Given the description of an element on the screen output the (x, y) to click on. 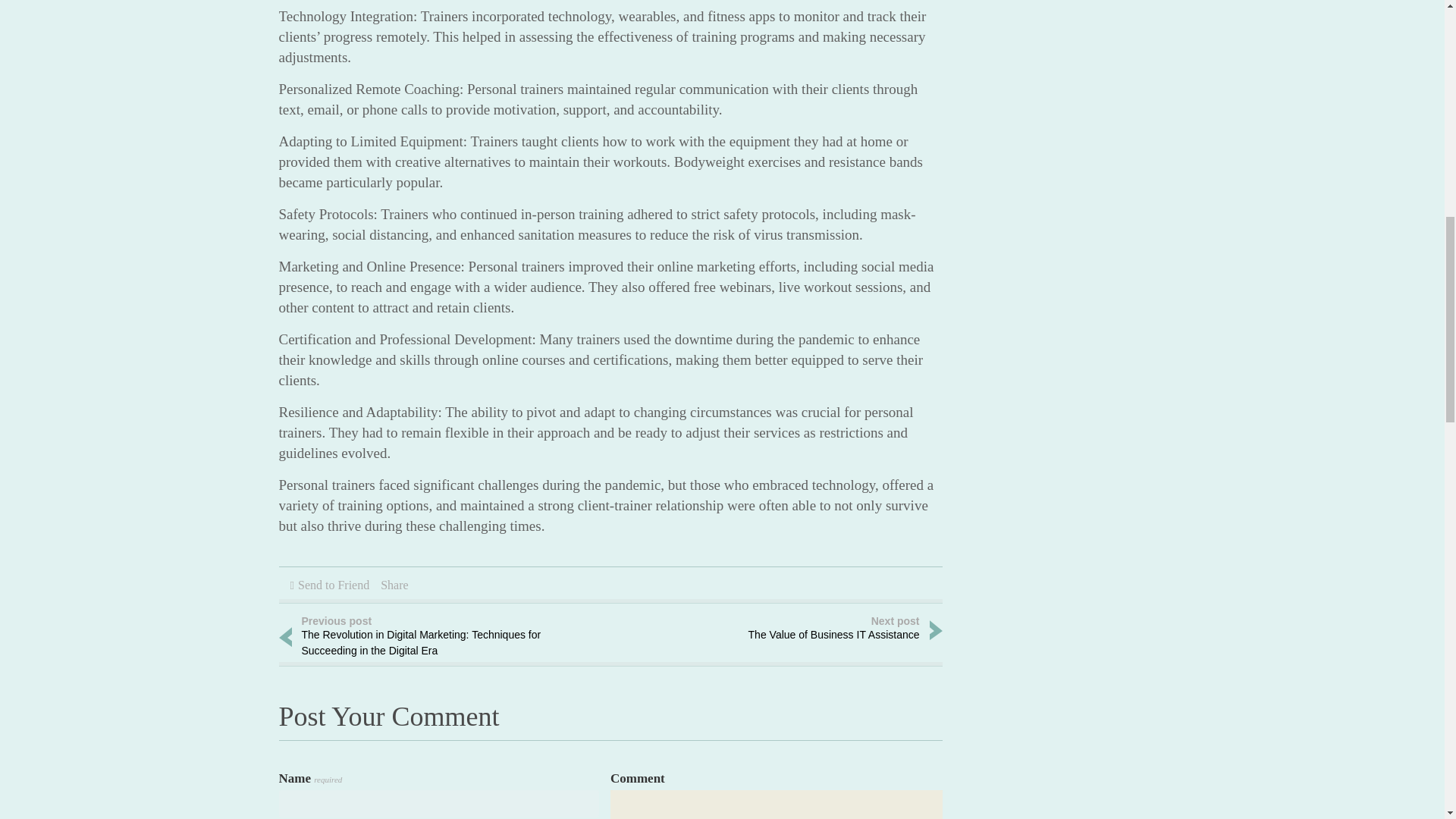
Send to Friend (797, 630)
Share (333, 584)
